Given the description of an element on the screen output the (x, y) to click on. 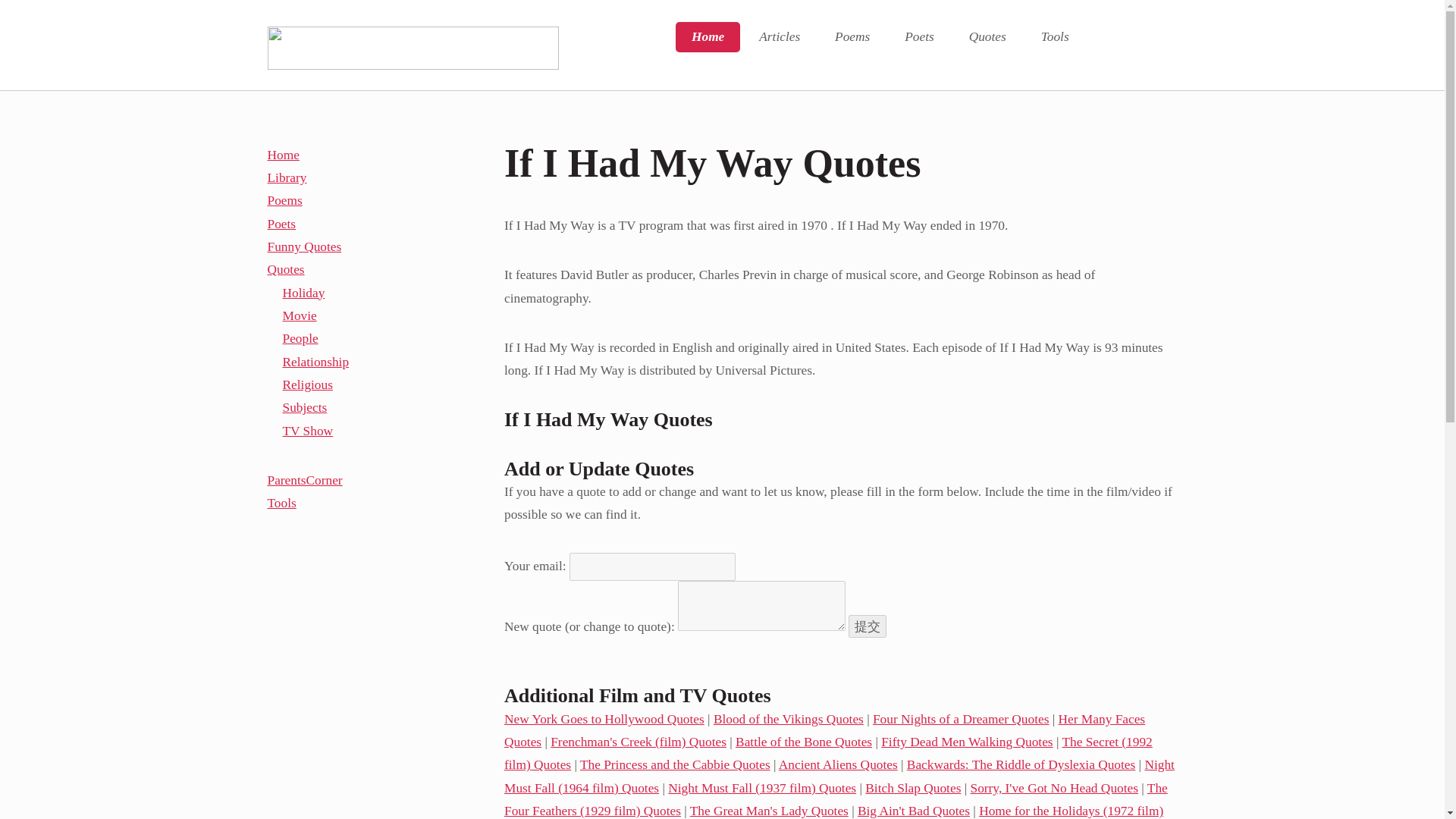
Poets (918, 37)
Articles (778, 37)
Poems (851, 37)
Quotes (987, 37)
Home (707, 37)
